Given the description of an element on the screen output the (x, y) to click on. 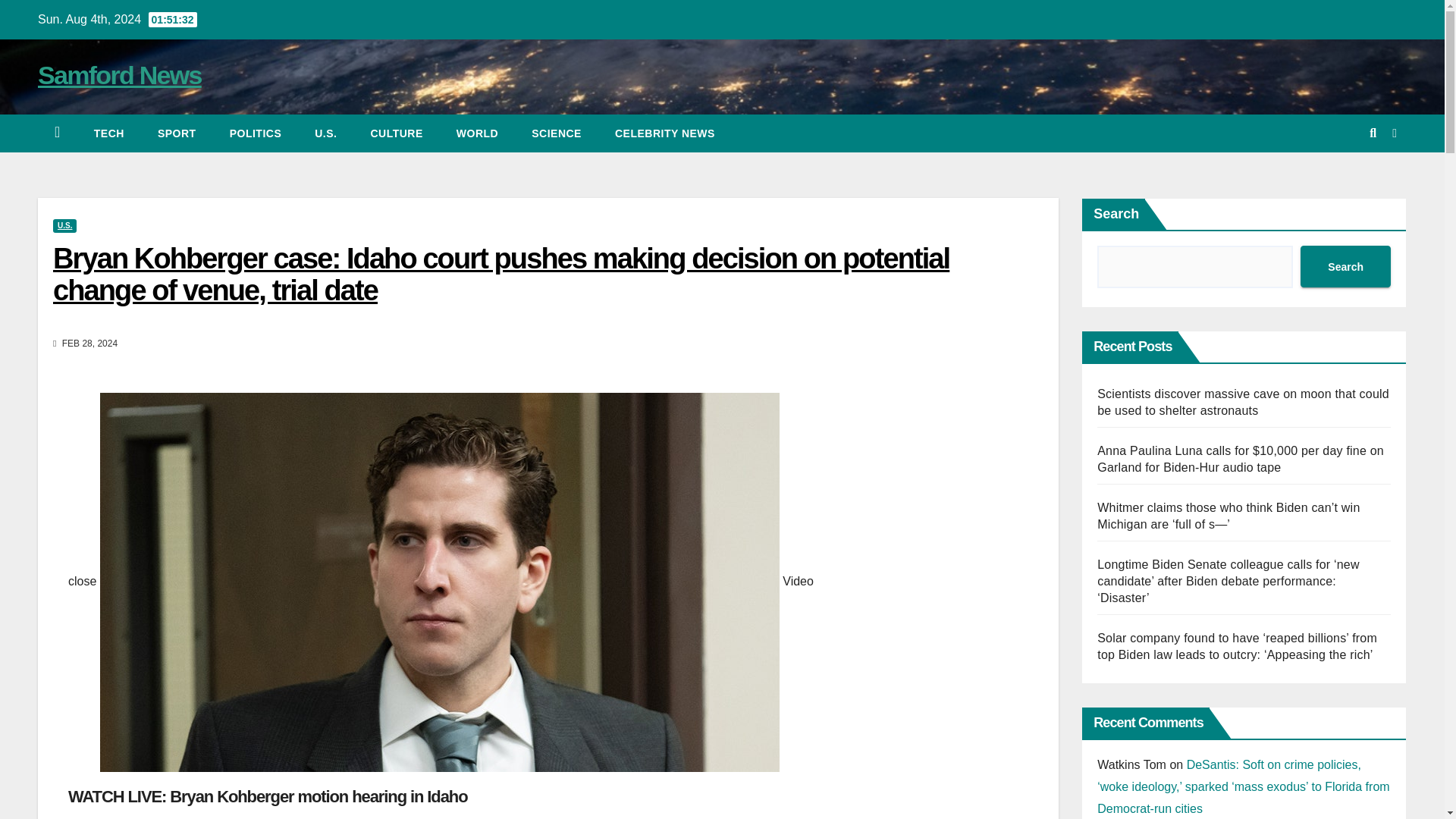
Celebrity News (665, 133)
POLITICS (255, 133)
World (477, 133)
SCIENCE (556, 133)
TECH (109, 133)
Sport (176, 133)
SPORT (176, 133)
U.S. (64, 225)
Science (556, 133)
CULTURE (396, 133)
CELEBRITY NEWS (665, 133)
Politics (255, 133)
